Given the description of an element on the screen output the (x, y) to click on. 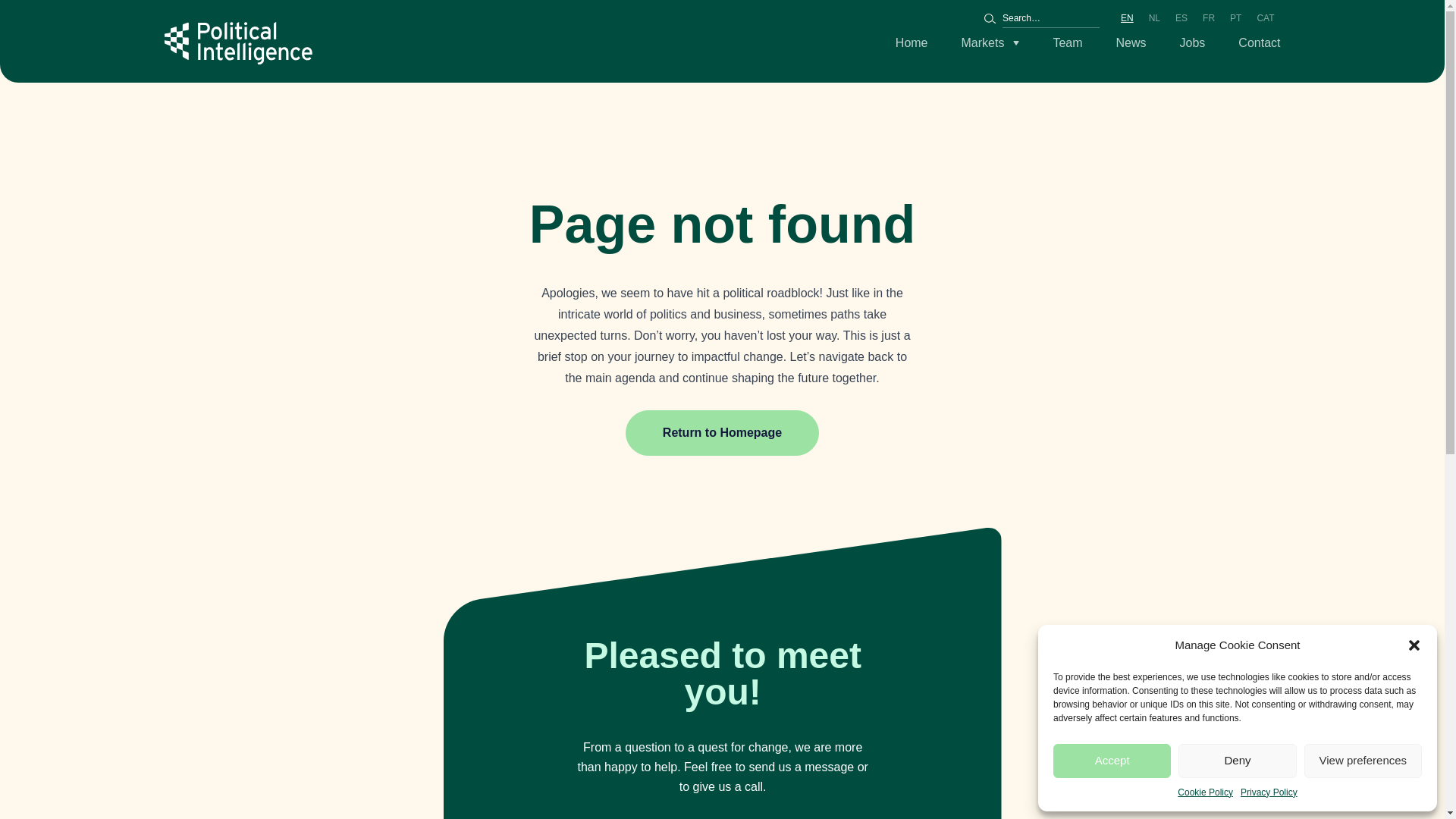
Markets (990, 43)
Jobs (1192, 43)
FR (1208, 18)
Privacy Policy (1268, 792)
Home (911, 43)
CAT (1264, 18)
Accept (1111, 759)
PT (1235, 18)
Contact (1259, 43)
Cookie Policy (1205, 792)
Deny (1236, 759)
View preferences (1363, 759)
ES (1181, 18)
Political Intelligence (237, 43)
NL (1154, 18)
